Given the description of an element on the screen output the (x, y) to click on. 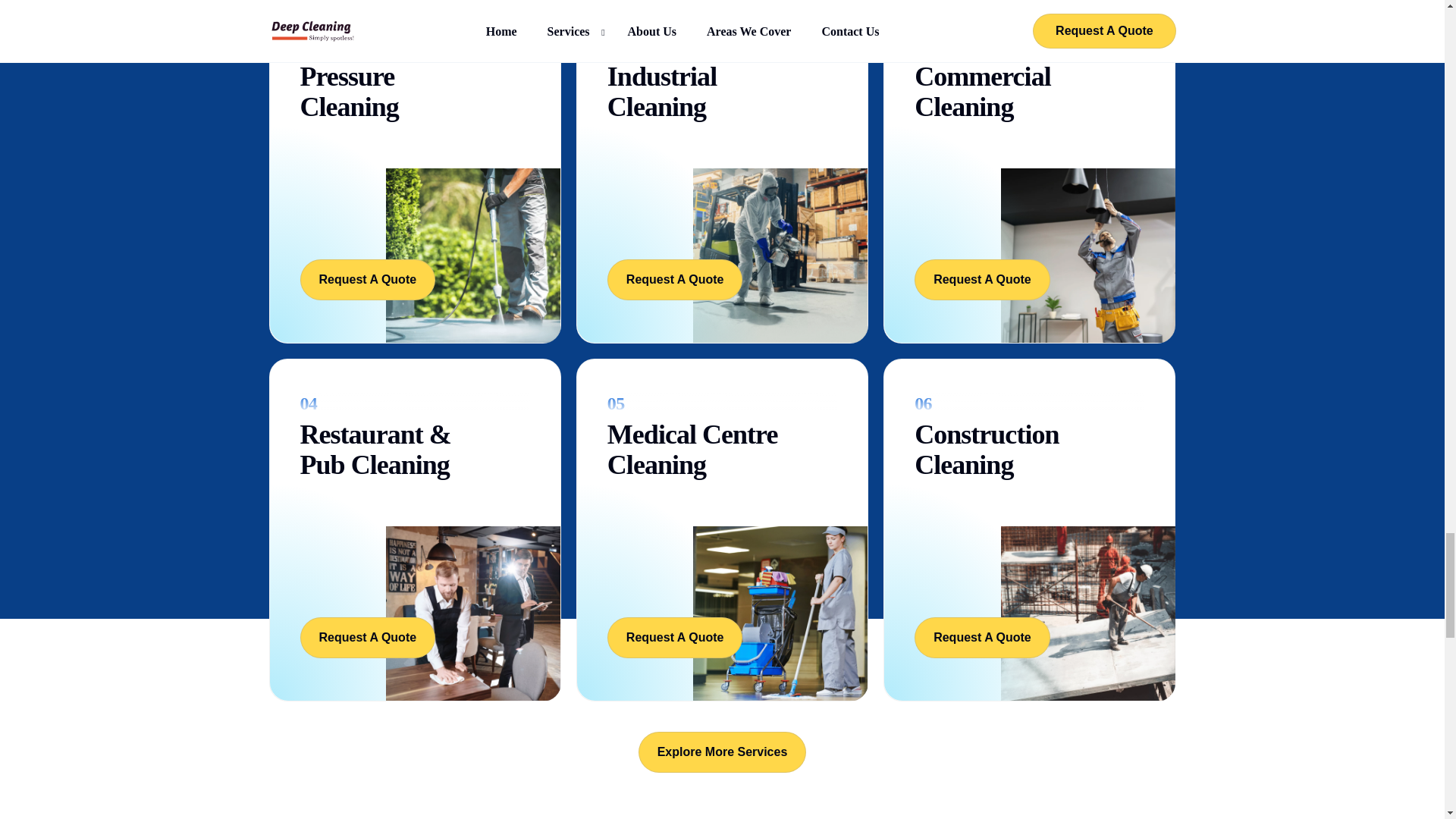
Request A Quote (367, 279)
